Given the description of an element on the screen output the (x, y) to click on. 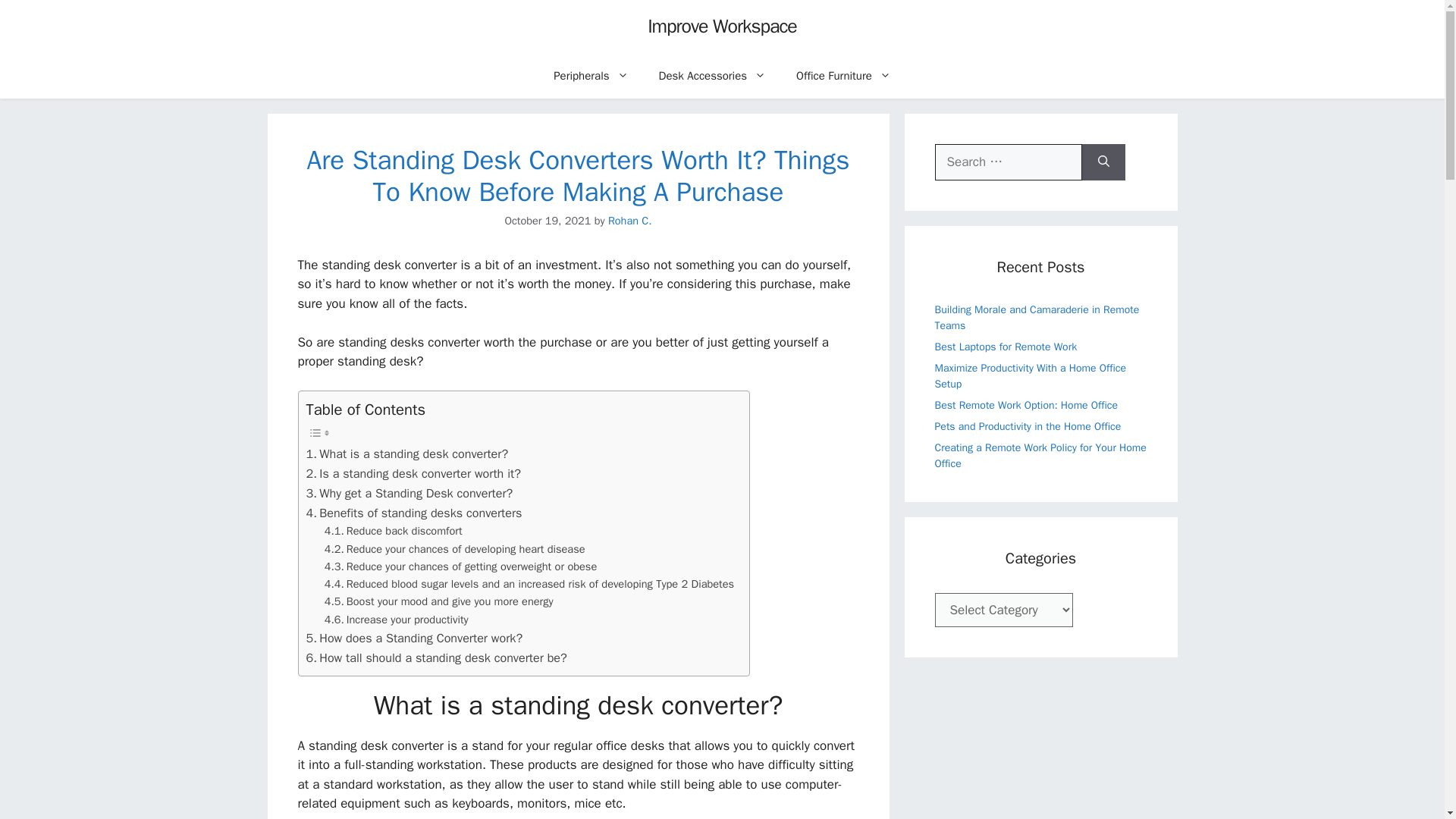
How does a Standing Converter work? (413, 638)
How tall should a standing desk converter be? (436, 658)
What is a standing desk converter? (406, 454)
What is a standing desk converter? (406, 454)
Desk Accessories (712, 75)
Office Furniture (842, 75)
Boost your mood and give you more energy (438, 601)
Is a standing desk converter worth it? (413, 474)
Reduce your chances of getting overweight or obese (460, 566)
Peripherals (590, 75)
